Given the description of an element on the screen output the (x, y) to click on. 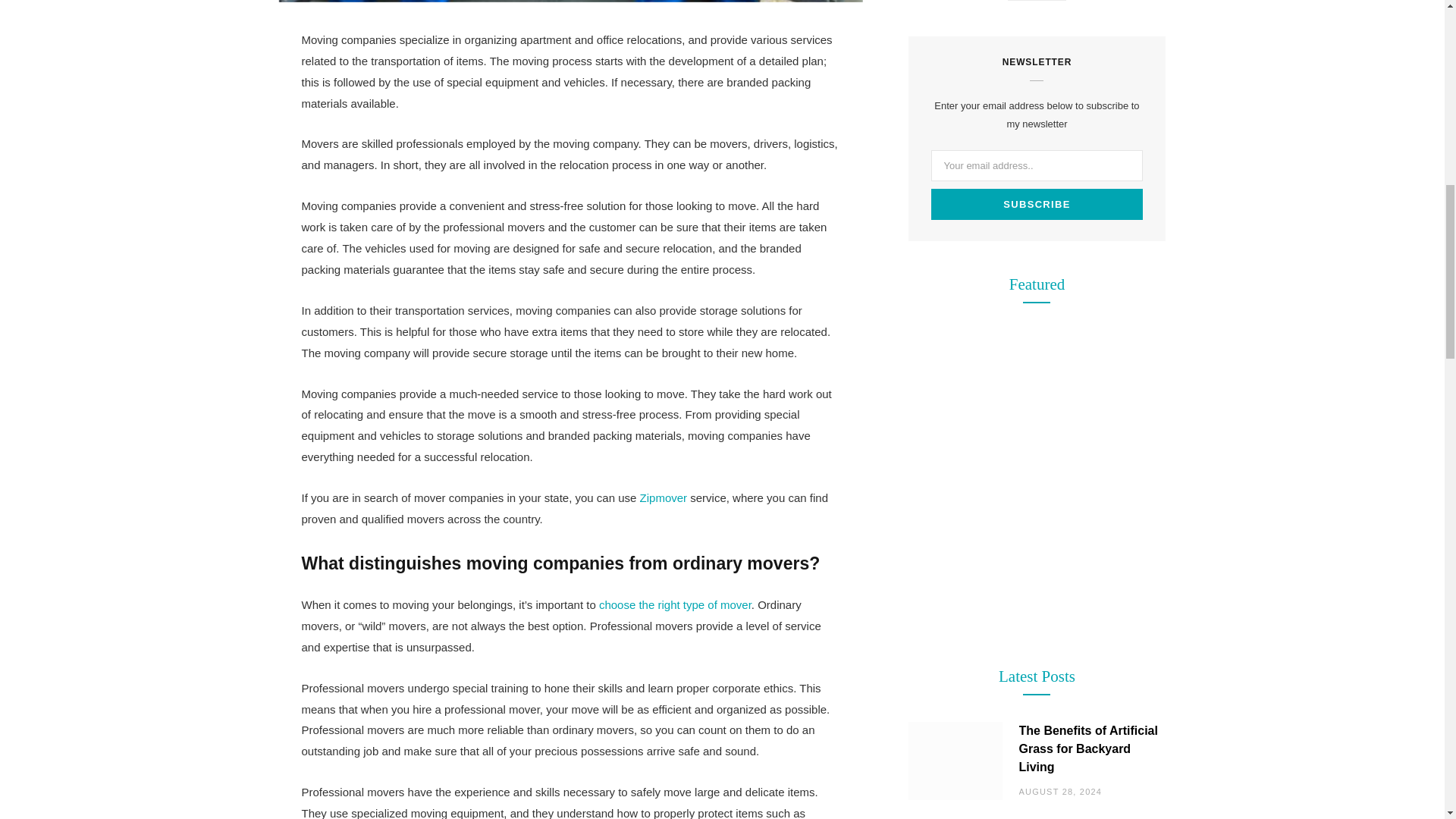
Zipmover (663, 497)
choose the right type of mover (674, 604)
Subscribe (1036, 204)
